Given the description of an element on the screen output the (x, y) to click on. 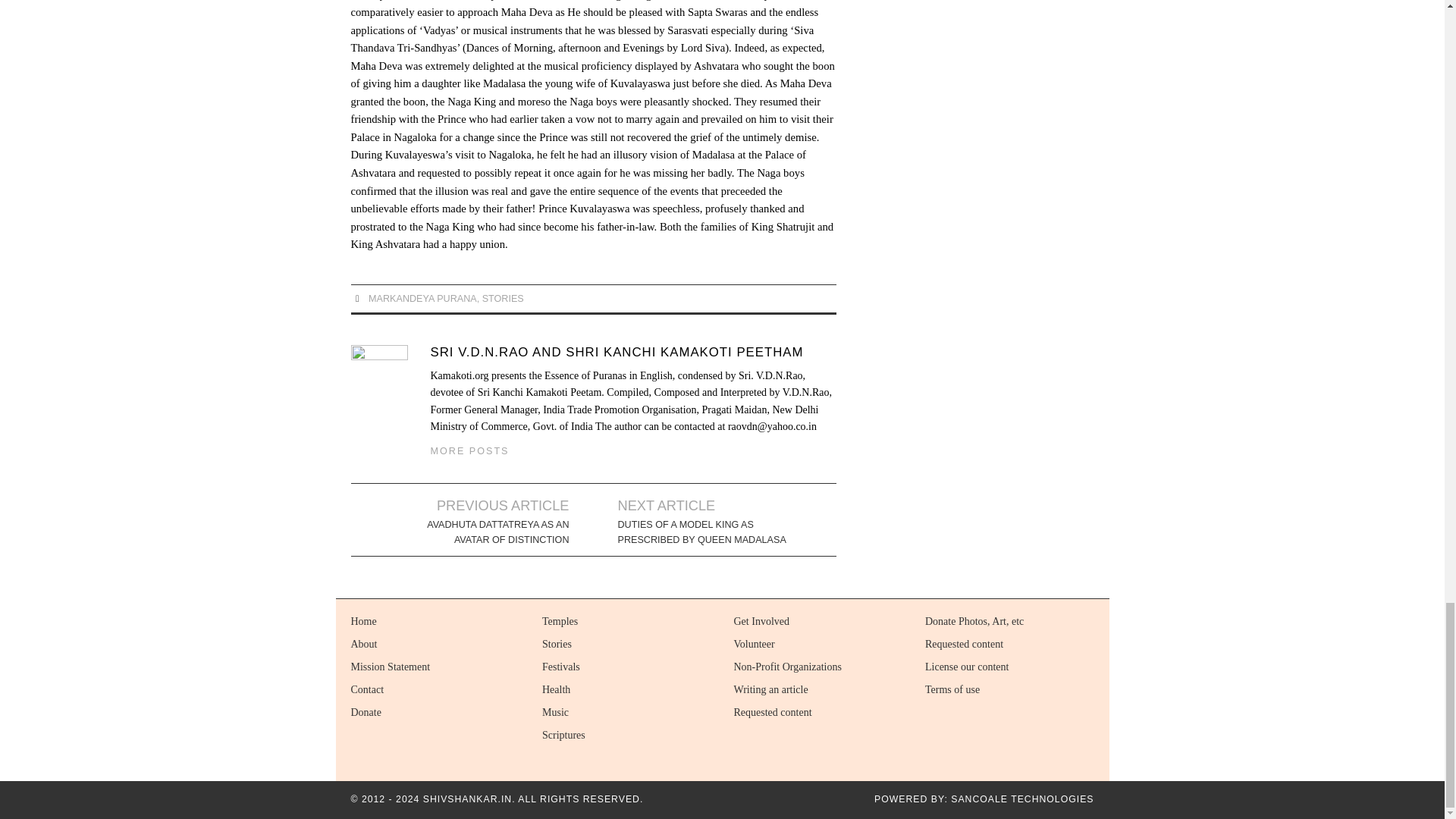
STORIES (502, 298)
DUTIES OF A MODEL KING AS PRESCRIBED BY QUEEN MADALASA (702, 531)
AVADHUTA DATTATREYA AS AN AVATAR OF DISTINCTION (483, 531)
MARKANDEYA PURANA (422, 298)
MORE POSTS (469, 450)
